Given the description of an element on the screen output the (x, y) to click on. 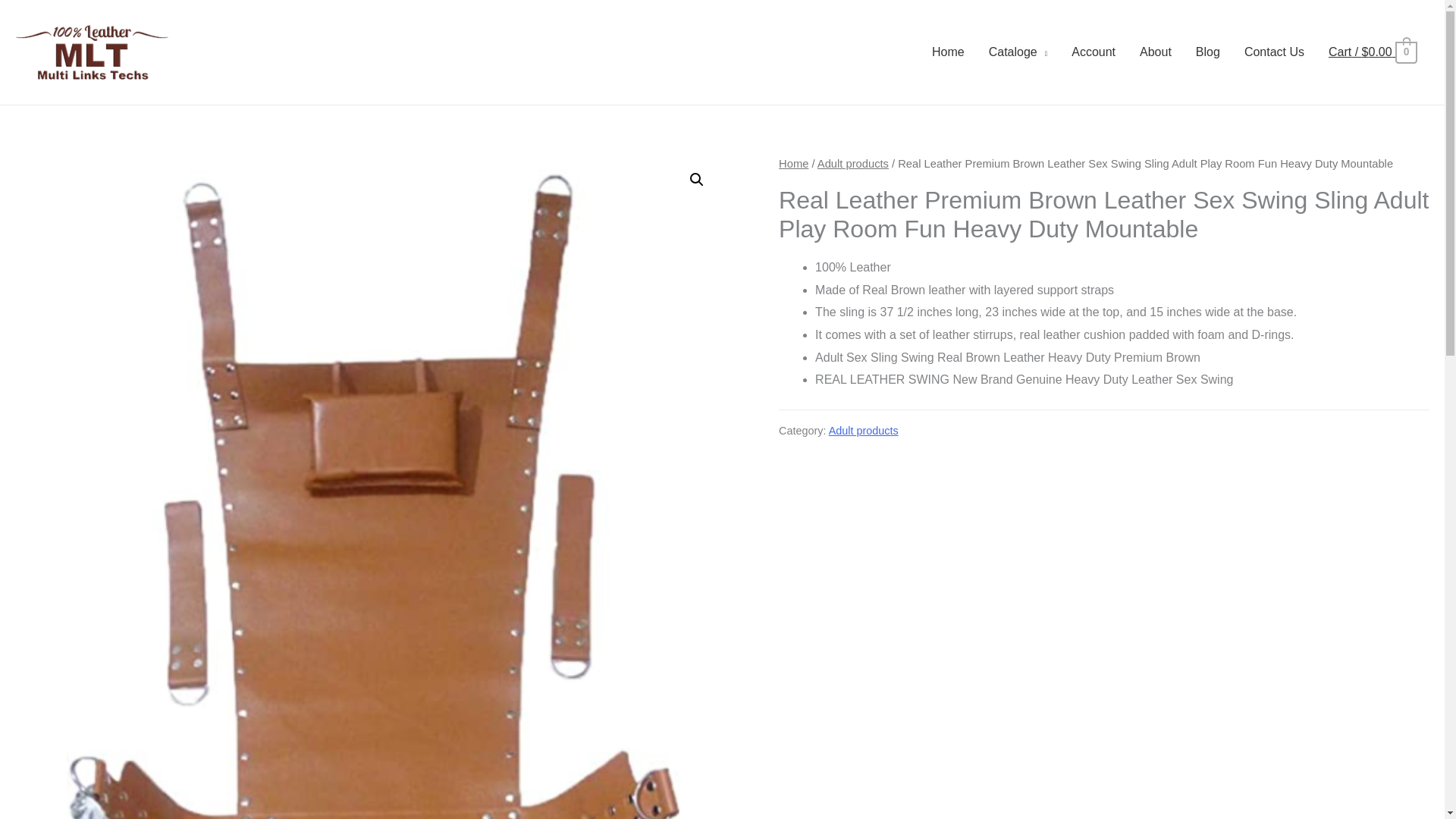
Home (948, 51)
Adult products (863, 430)
View your shopping cart (1371, 51)
Account (1092, 51)
Blog (1207, 51)
About (1154, 51)
Cataloge (1017, 51)
Contact Us (1273, 51)
Home (793, 163)
Adult products (852, 163)
